Given the description of an element on the screen output the (x, y) to click on. 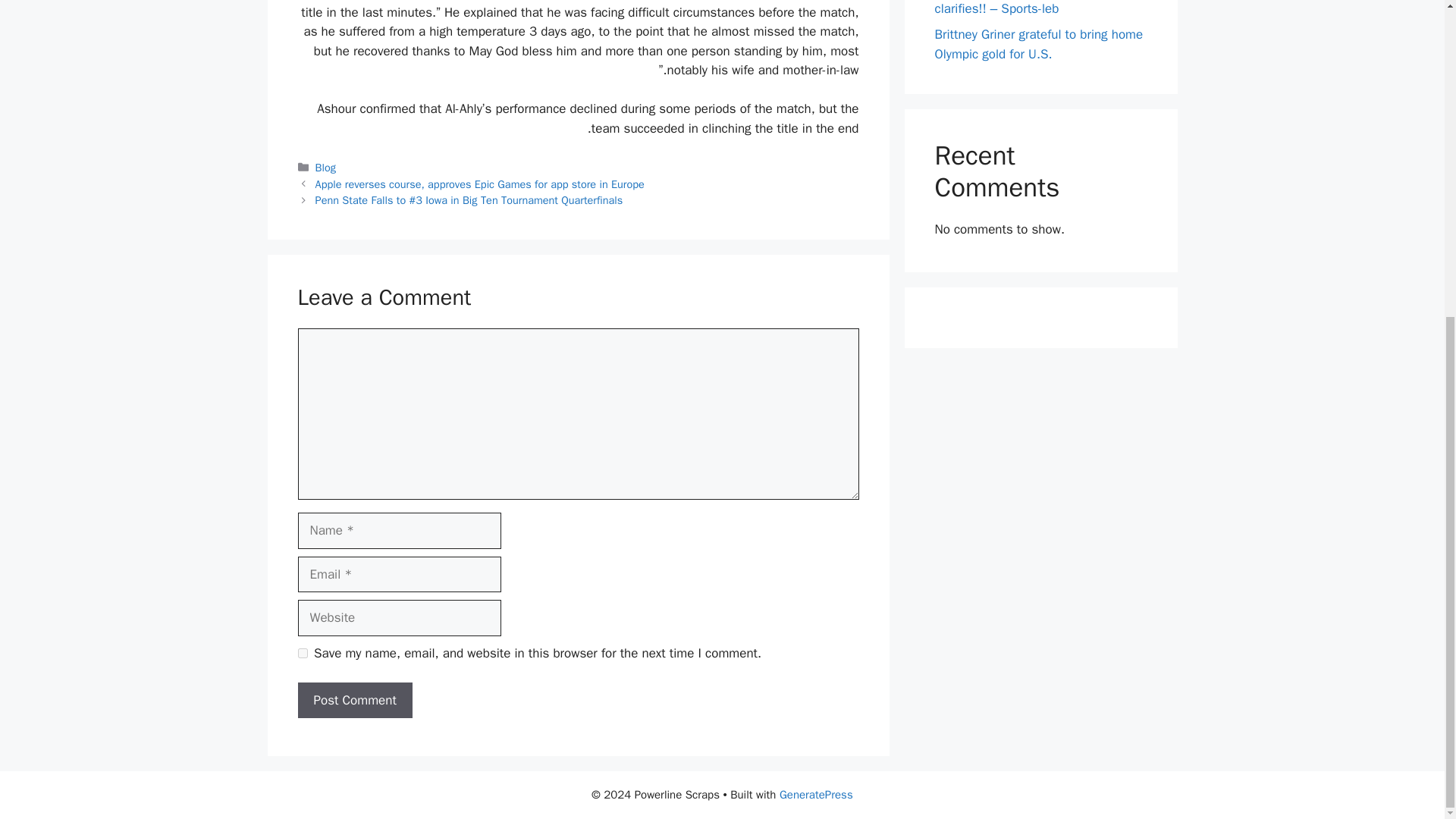
yes (302, 653)
Post Comment (354, 700)
Post Comment (354, 700)
GeneratePress (815, 794)
Blog (325, 167)
Brittney Griner grateful to bring home Olympic gold for U.S. (1038, 44)
